Given the description of an element on the screen output the (x, y) to click on. 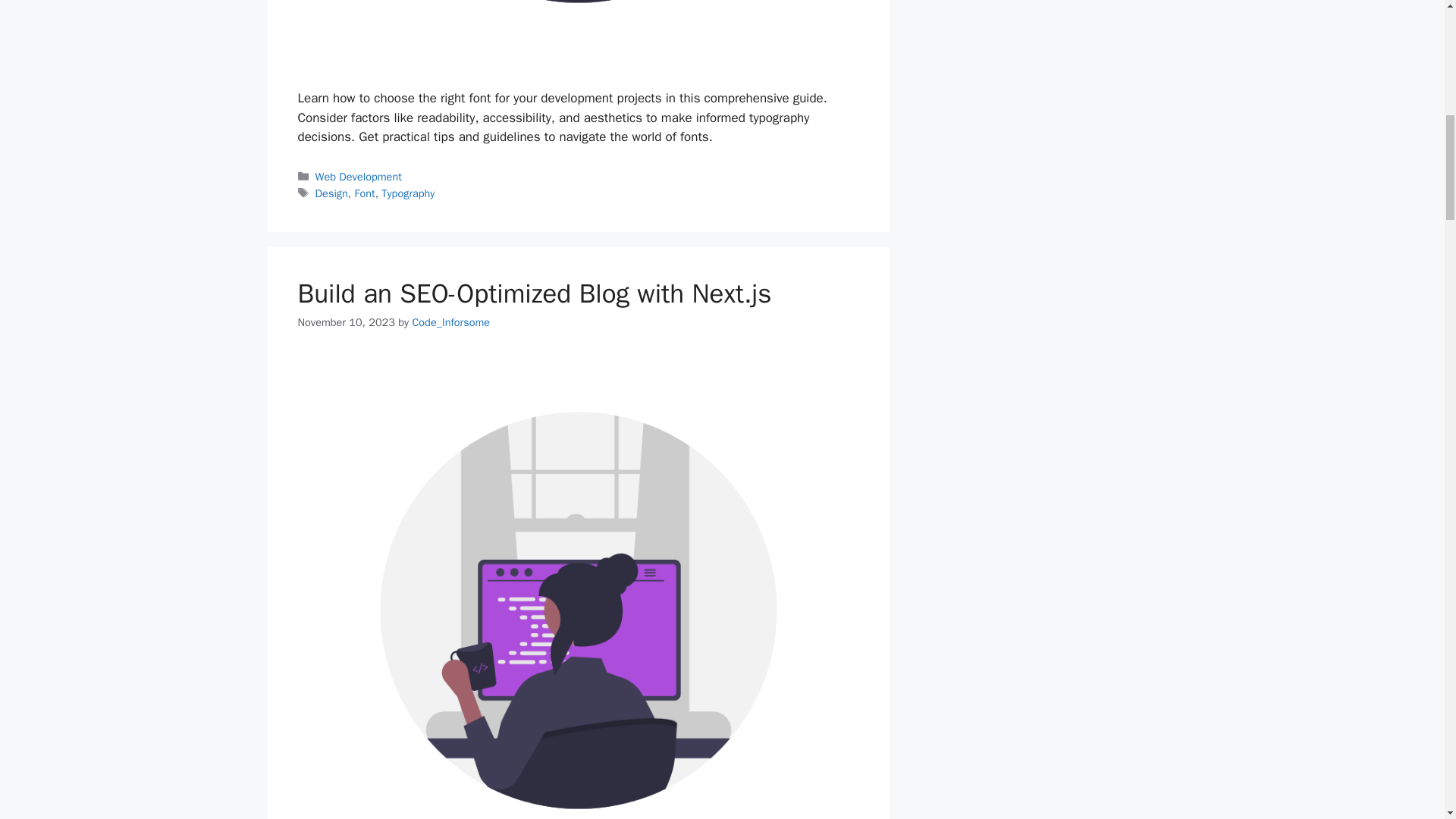
Font (365, 192)
Design (331, 192)
Typography (407, 192)
Build an SEO-Optimized Blog with Next.js (534, 293)
Web Development (358, 176)
